Given the description of an element on the screen output the (x, y) to click on. 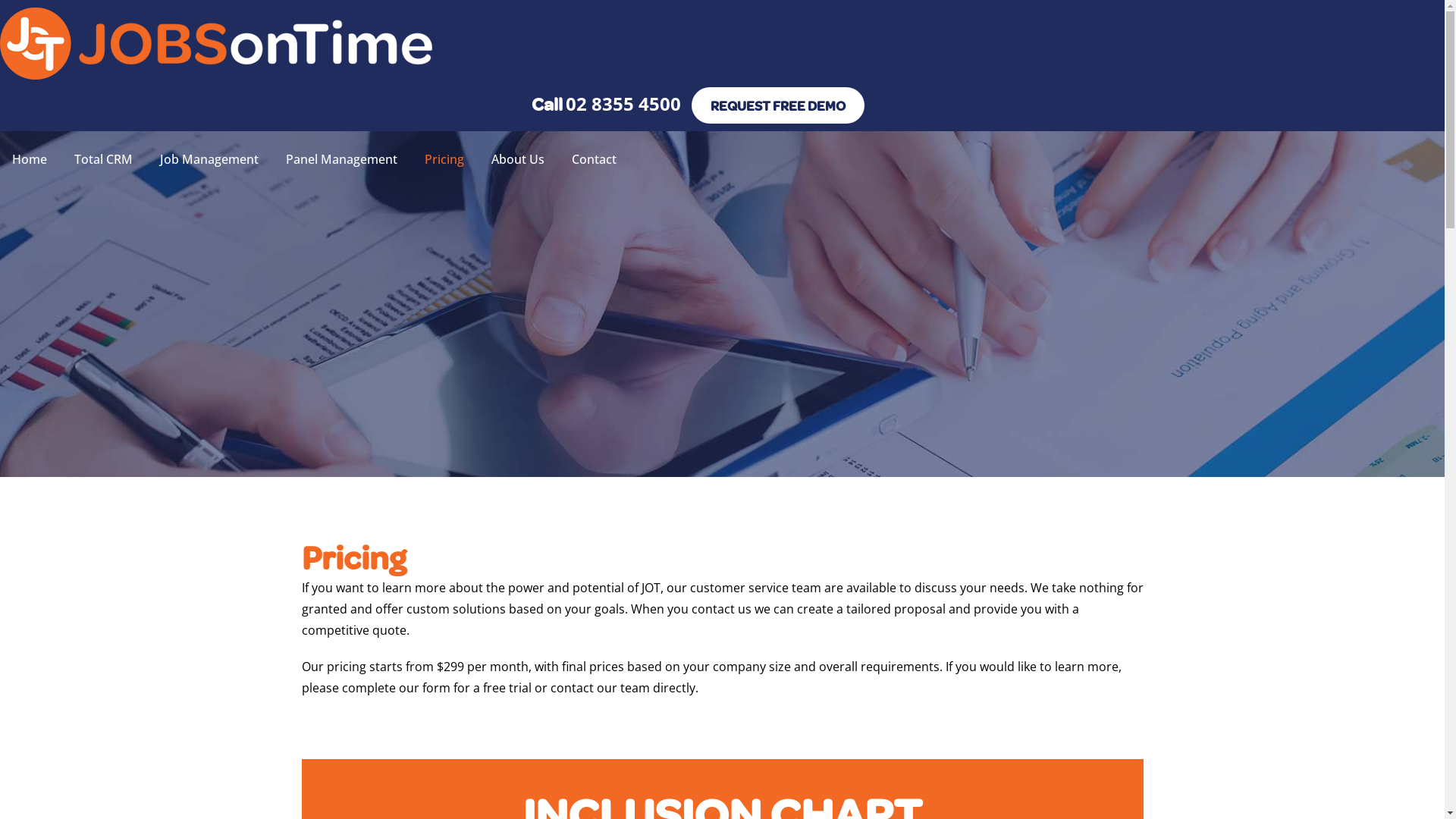
About Us Element type: text (517, 158)
Home Element type: text (29, 158)
Job Management Element type: text (208, 158)
Pricing Element type: text (444, 158)
Total CRM Element type: text (103, 158)
Contact Element type: text (593, 158)
Jobs on Time Element type: hover (216, 74)
Panel Management Element type: text (341, 158)
02 8355 4500 Element type: text (622, 103)
REQUEST FREE DEMO Element type: text (777, 105)
